Given the description of an element on the screen output the (x, y) to click on. 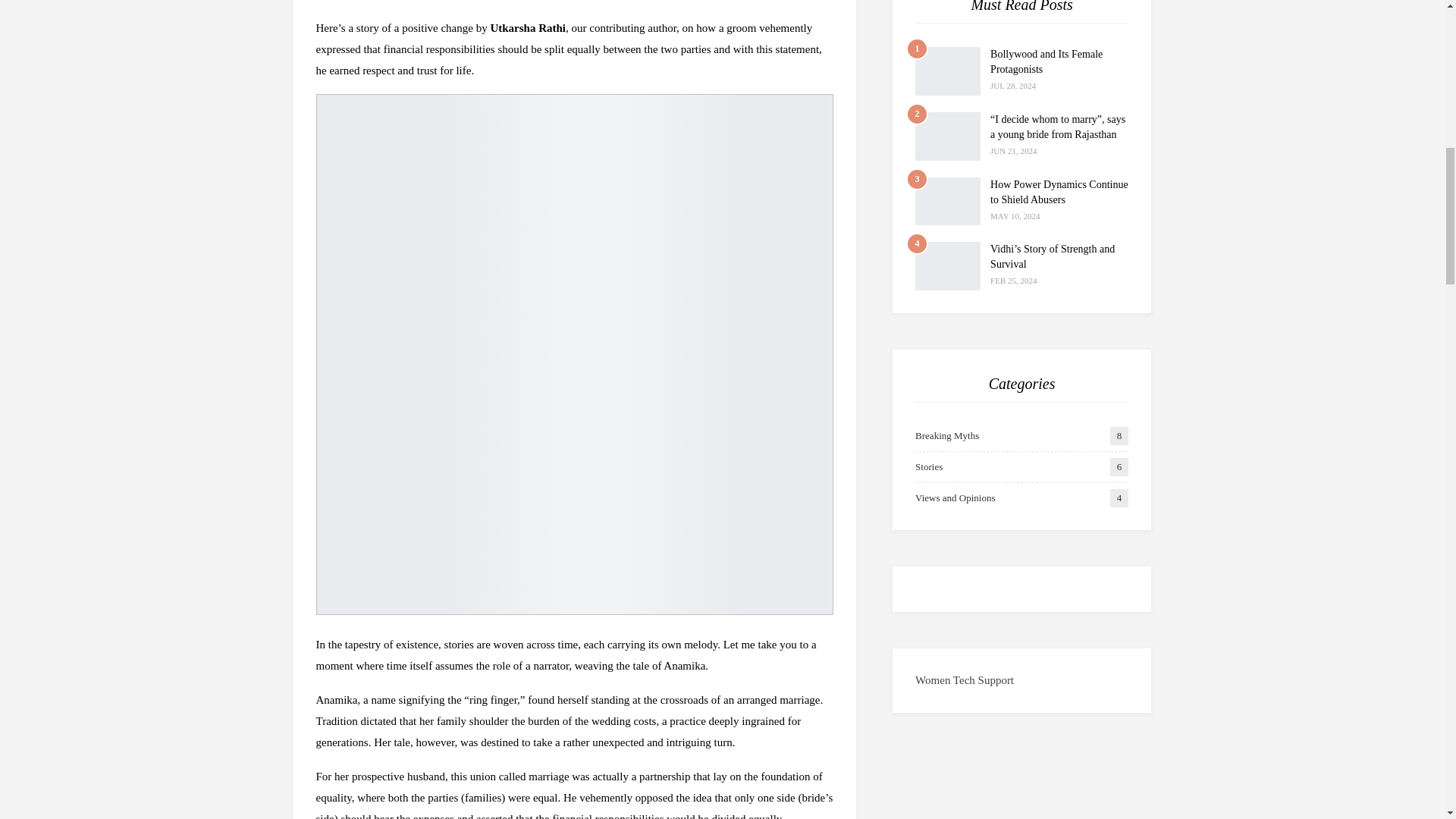
Bollywood and Its Female Protagonists (947, 70)
